Given the description of an element on the screen output the (x, y) to click on. 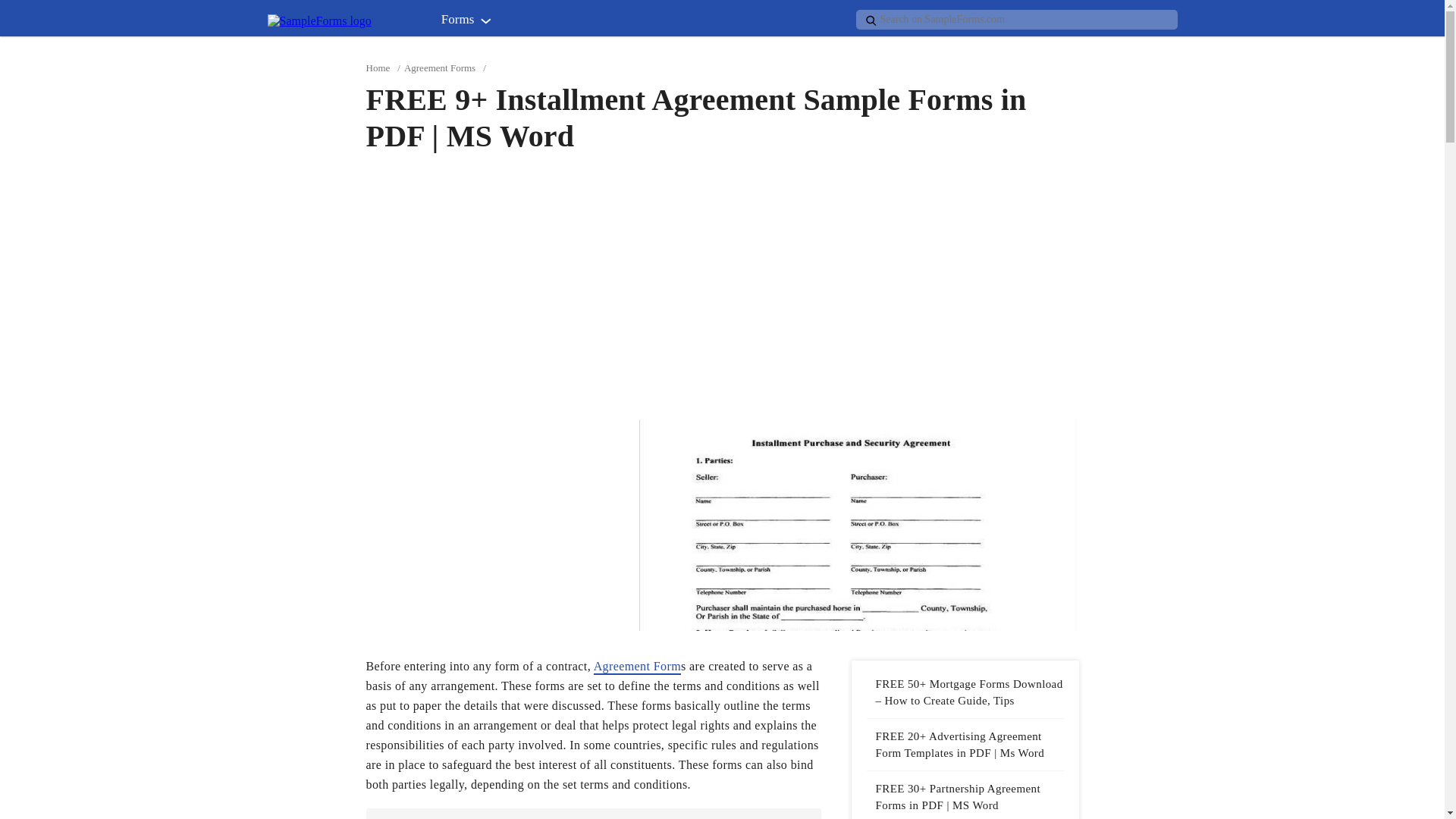
Forms (470, 23)
installment agreement sample forms (858, 524)
Home (377, 68)
